Given the description of an element on the screen output the (x, y) to click on. 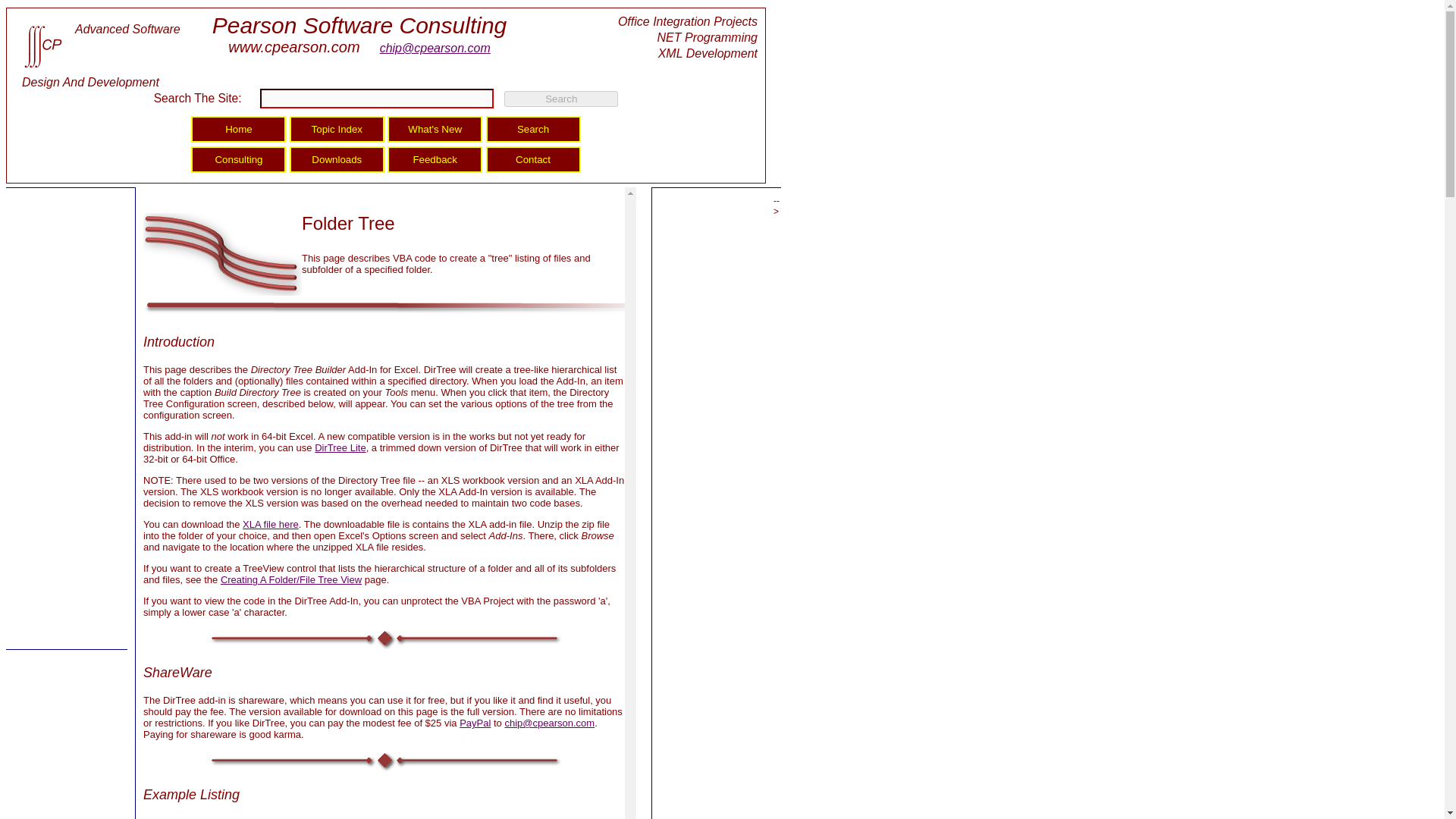
Contact (533, 158)
Search (560, 98)
Consulting (237, 158)
Home (237, 128)
What's New (434, 128)
What's New (434, 128)
Consulting (237, 158)
Downloads (336, 158)
Topic Index (336, 128)
Home (237, 128)
XLA file here (270, 523)
Downloads (336, 158)
Search (560, 98)
Topic Index (336, 128)
Search (533, 128)
